Given the description of an element on the screen output the (x, y) to click on. 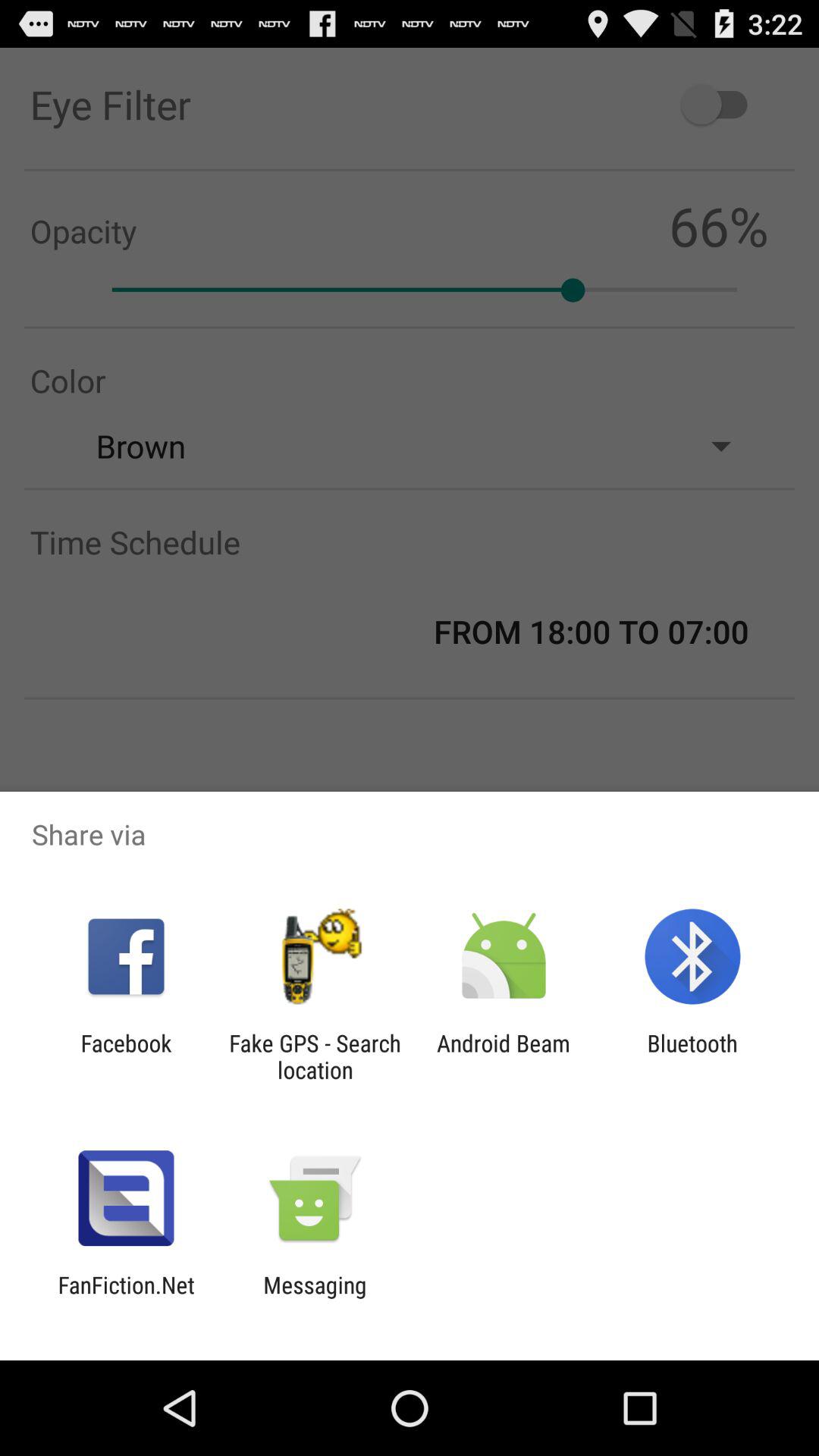
turn off the messaging (314, 1298)
